Given the description of an element on the screen output the (x, y) to click on. 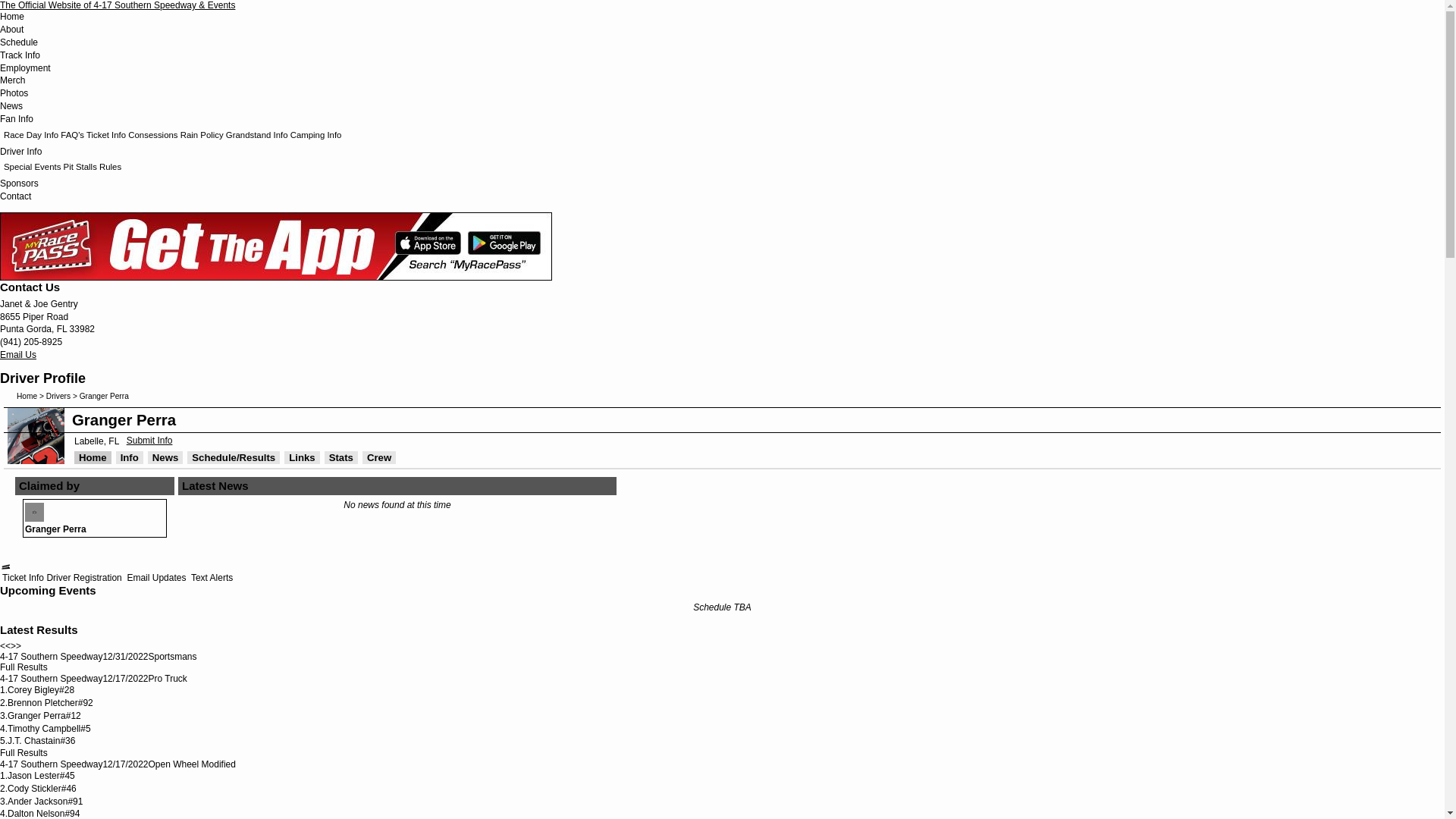
Consessions Element type: text (152, 134)
Grandstand Info Element type: text (256, 134)
Info Element type: text (129, 457)
>> Element type: text (15, 645)
Crew Element type: text (378, 457)
About Element type: text (11, 29)
Pit Stalls Element type: text (80, 166)
Track Info Element type: text (20, 55)
Race Day Info Element type: text (30, 134)
Fan Info Element type: text (16, 118)
Contact Element type: text (15, 196)
J.T. Chastain Element type: text (33, 740)
Employment Element type: text (25, 67)
Find 417 Southern Speedway on MyRacePass! Element type: hover (6, 566)
Corey Bigley Element type: text (33, 689)
FAQ's Element type: text (72, 134)
Jason Lester Element type: text (33, 775)
Drivers Element type: text (58, 396)
Stats Element type: text (340, 457)
Cody Stickler Element type: text (34, 788)
Photos Element type: text (14, 92)
Granger Perra Element type: text (36, 715)
Schedule/Results Element type: text (233, 457)
Full Results Element type: text (23, 752)
Home Element type: text (26, 396)
Email Us Element type: text (18, 354)
Sponsors Element type: text (19, 183)
 Text Alerts Element type: text (210, 577)
Submit Info Element type: text (149, 440)
 Ticket Info Element type: text (21, 577)
Ander Jackson Element type: text (37, 801)
The Official Website of 4-17 Southern Speedway & Events Element type: text (117, 5)
Camping Info Element type: text (316, 134)
Rules Element type: text (110, 166)
 Email Updates Element type: text (154, 577)
Home Element type: text (12, 16)
Driver Info Element type: text (20, 151)
News Element type: text (11, 105)
Special Events Element type: text (31, 166)
(941) 205-8925 Element type: text (31, 341)
Brennon Pletcher Element type: text (42, 702)
Schedule Element type: text (18, 42)
Rain Policy Element type: text (201, 134)
Ticket Info Element type: text (105, 134)
Home Element type: text (92, 457)
Timothy Campbell Element type: text (43, 728)
Driver Registration Element type: text (83, 577)
Merch Element type: text (12, 80)
Links Element type: text (301, 457)
<< Element type: text (5, 645)
News Element type: text (164, 457)
Full Results Element type: text (23, 667)
